Given the description of an element on the screen output the (x, y) to click on. 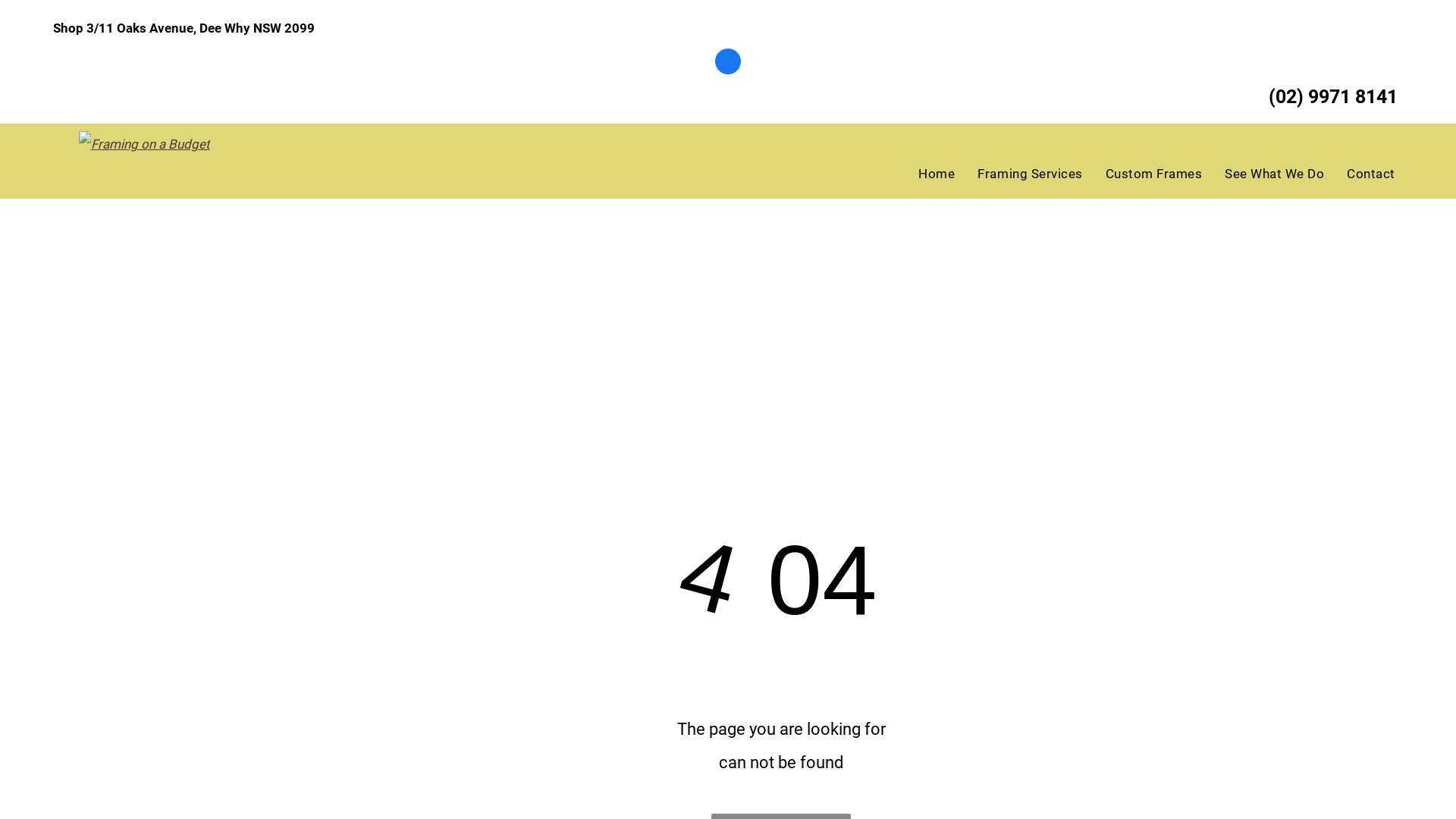
(02) 9971 8141 Element type: text (1300, 97)
Home Element type: text (934, 173)
Contact Element type: text (1368, 173)
See What We Do Element type: text (1272, 173)
Framing on a Budget Element type: hover (144, 143)
Shop 3/11 Oaks Avenue, Dee Why NSW 2099 Element type: text (183, 27)
Custom Frames Element type: text (1152, 173)
Framing Services Element type: text (1027, 173)
